Given the description of an element on the screen output the (x, y) to click on. 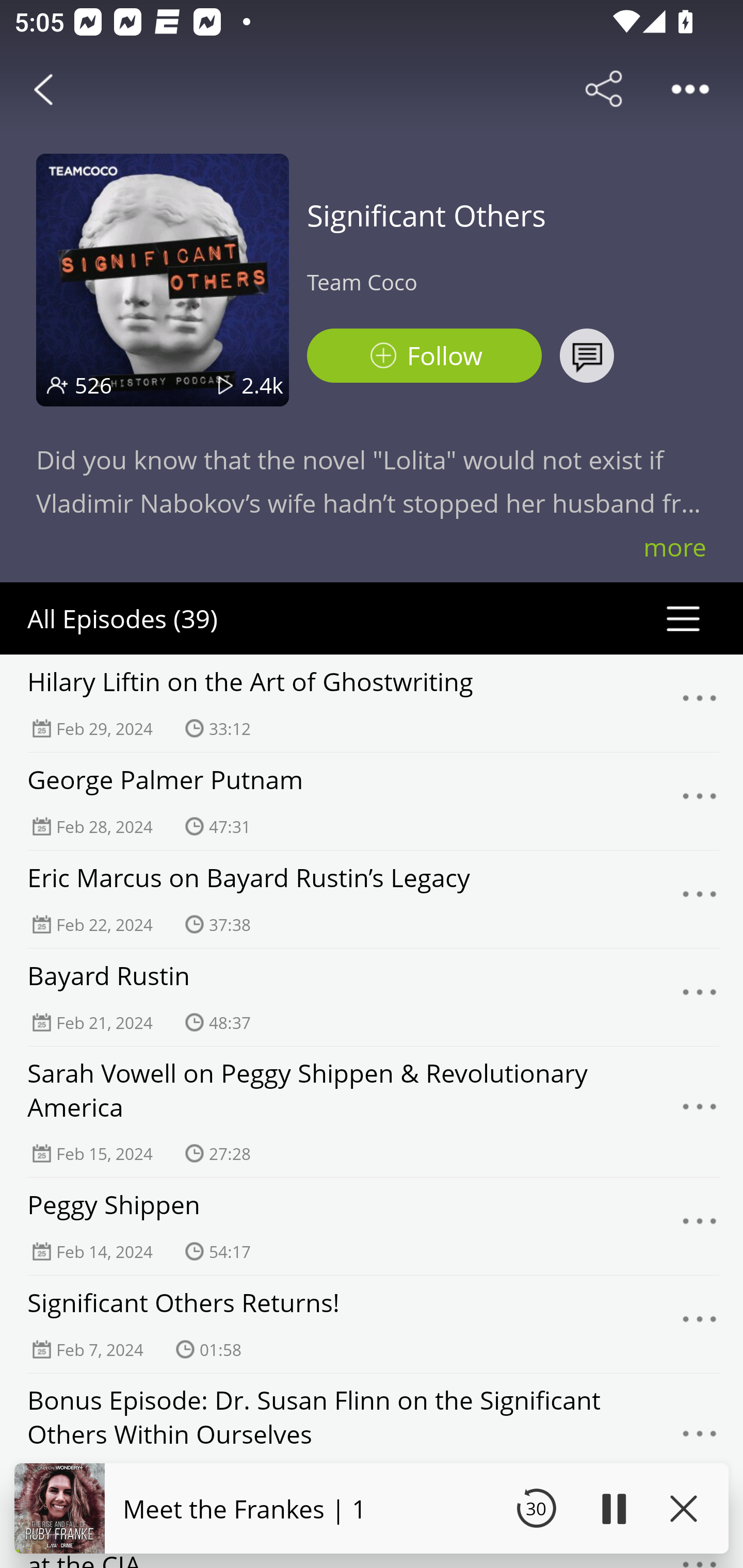
Back (43, 88)
Podbean Follow (423, 355)
526 (93, 384)
more (674, 546)
Menu (699, 703)
George Palmer Putnam Feb 28, 2024 47:31 Menu (371, 800)
Menu (699, 801)
Menu (699, 899)
Bayard Rustin Feb 21, 2024 48:37 Menu (371, 996)
Menu (699, 997)
Menu (699, 1112)
Peggy Shippen Feb 14, 2024 54:17 Menu (371, 1225)
Menu (699, 1226)
Significant Others Returns! Feb 7, 2024 01:58 Menu (371, 1323)
Menu (699, 1324)
Menu (699, 1438)
Meet the Frankes | 1 30 Seek Backward 13940.0 Play (371, 1508)
Play (613, 1507)
30 Seek Backward (536, 1508)
